Given the description of an element on the screen output the (x, y) to click on. 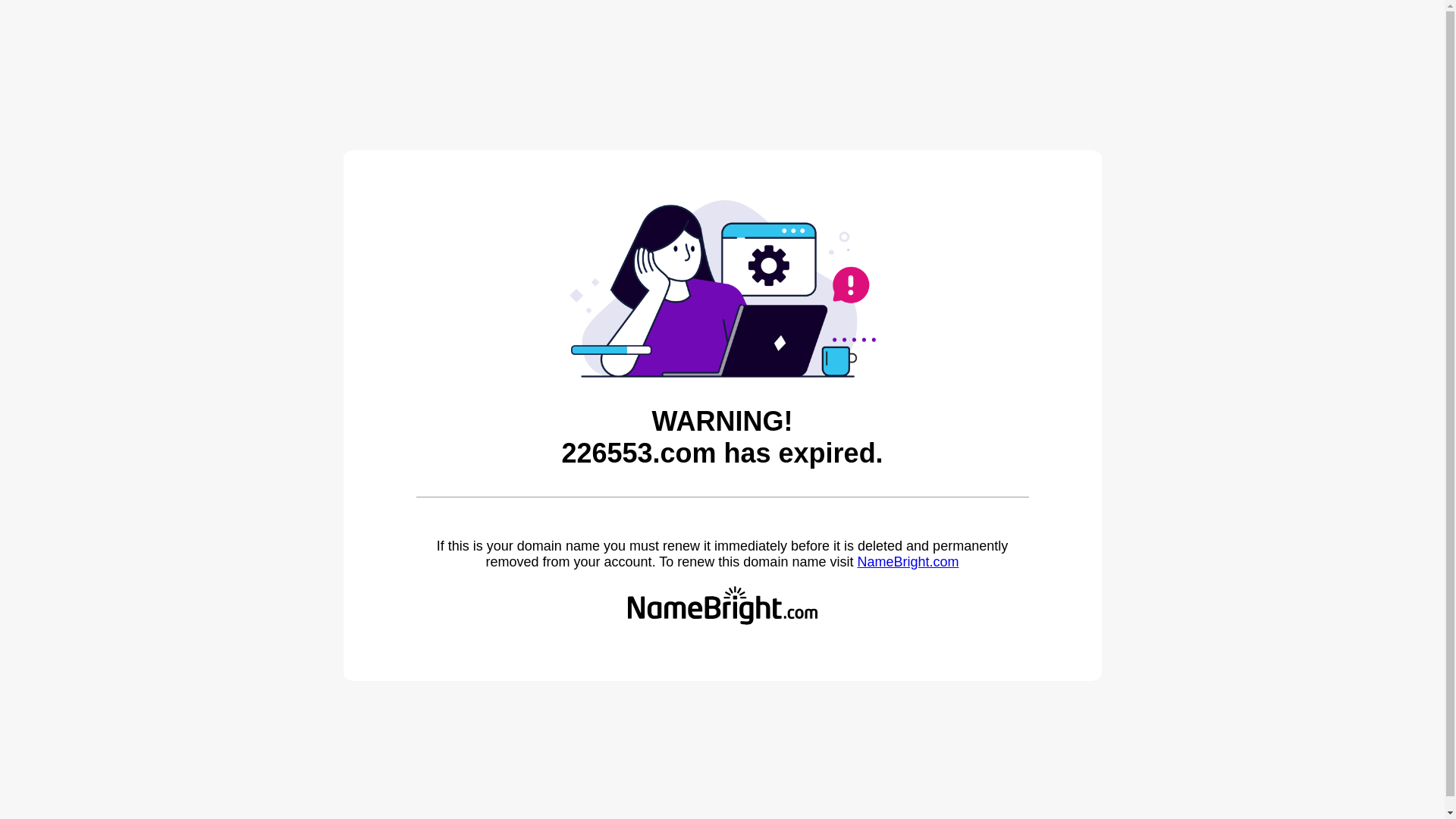
NameBright.com Element type: text (907, 561)
